Given the description of an element on the screen output the (x, y) to click on. 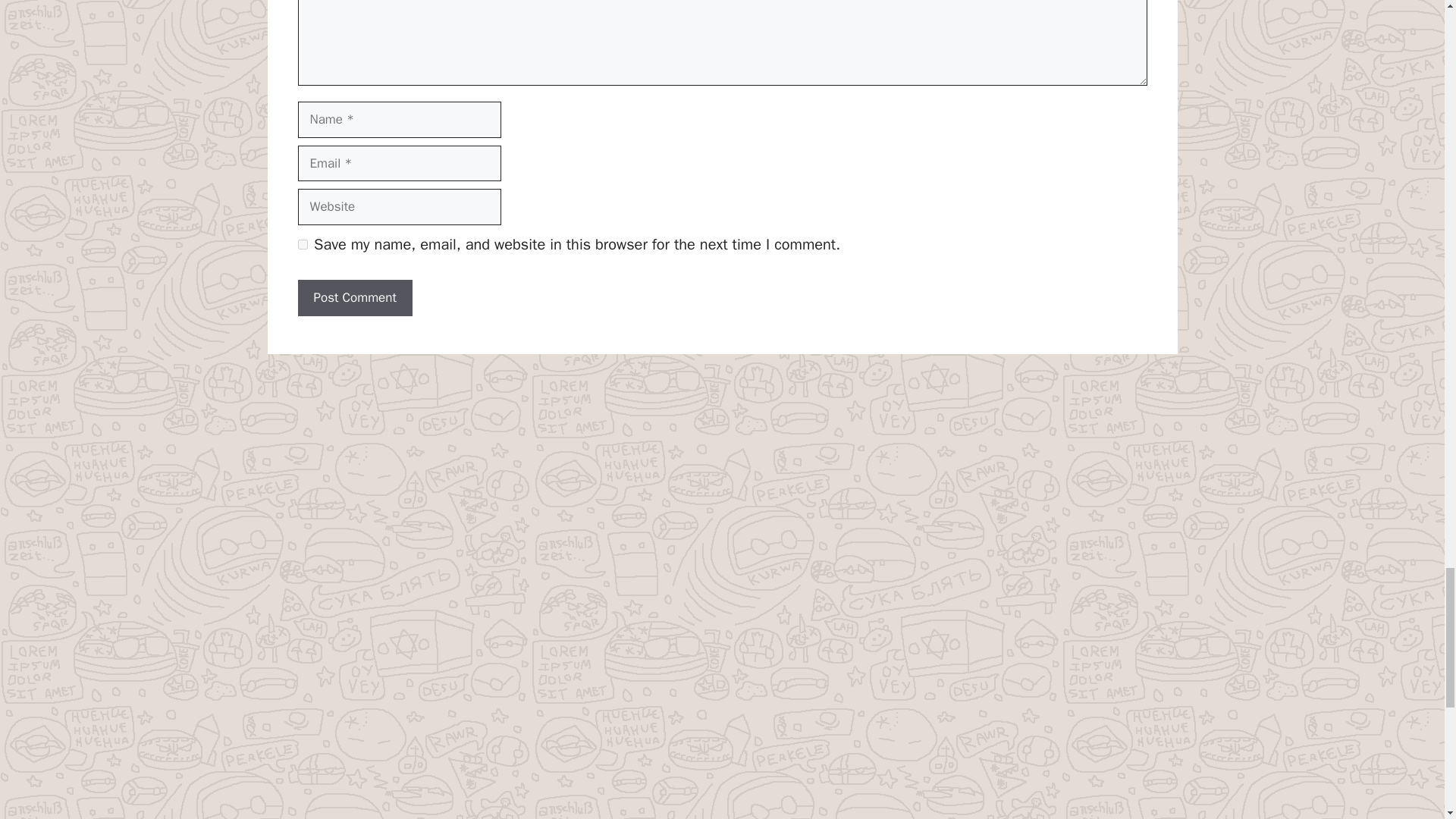
Post Comment (354, 298)
yes (302, 244)
